Given the description of an element on the screen output the (x, y) to click on. 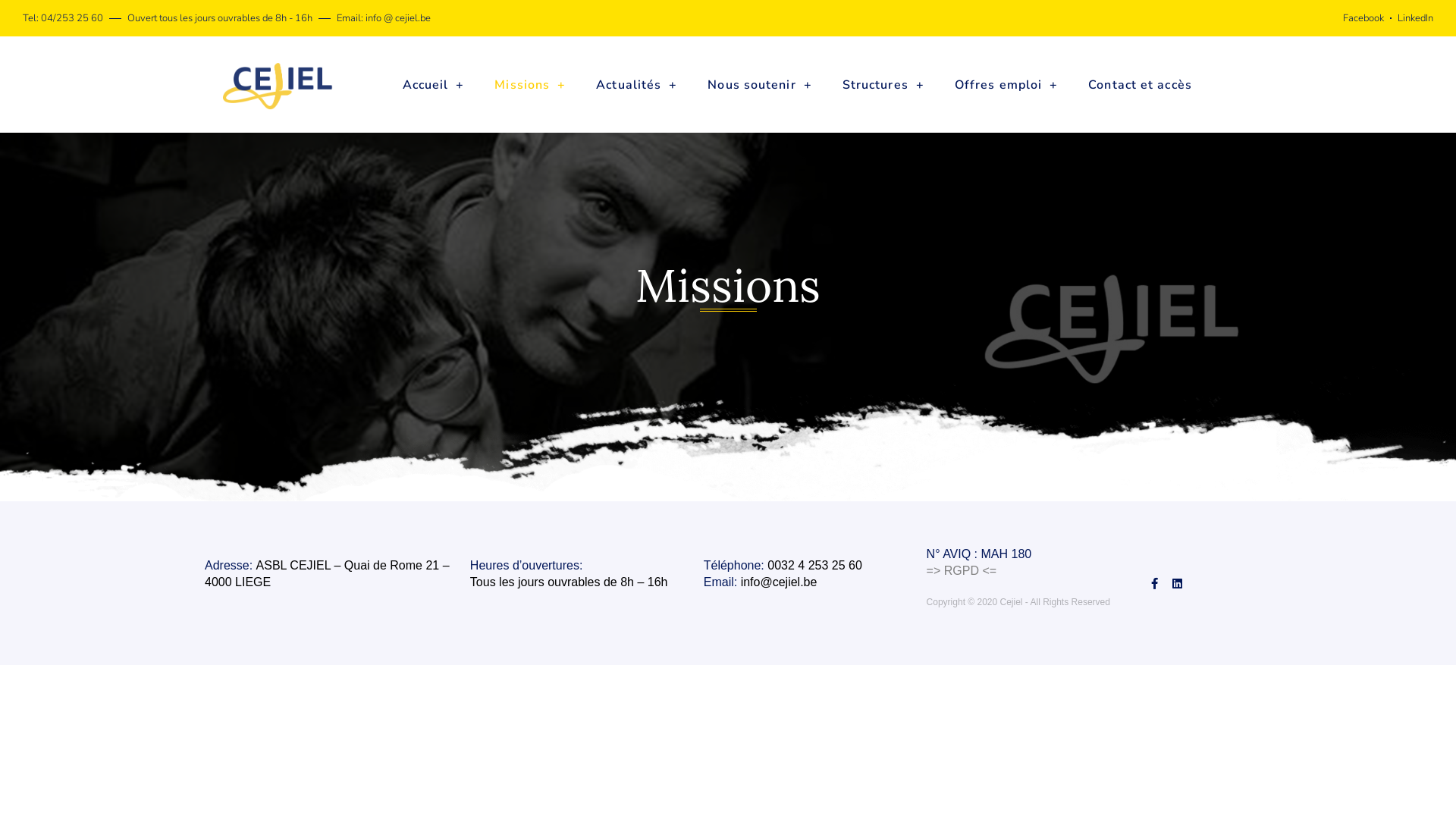
Offres emploi Element type: text (1006, 84)
Nous soutenir Element type: text (759, 84)
LinkedIn Element type: text (1415, 18)
Structures Element type: text (883, 84)
Missions Element type: text (529, 84)
=> RGPD <= Element type: text (961, 570)
Facebook Element type: text (1363, 18)
Accueil Element type: text (432, 84)
